Given the description of an element on the screen output the (x, y) to click on. 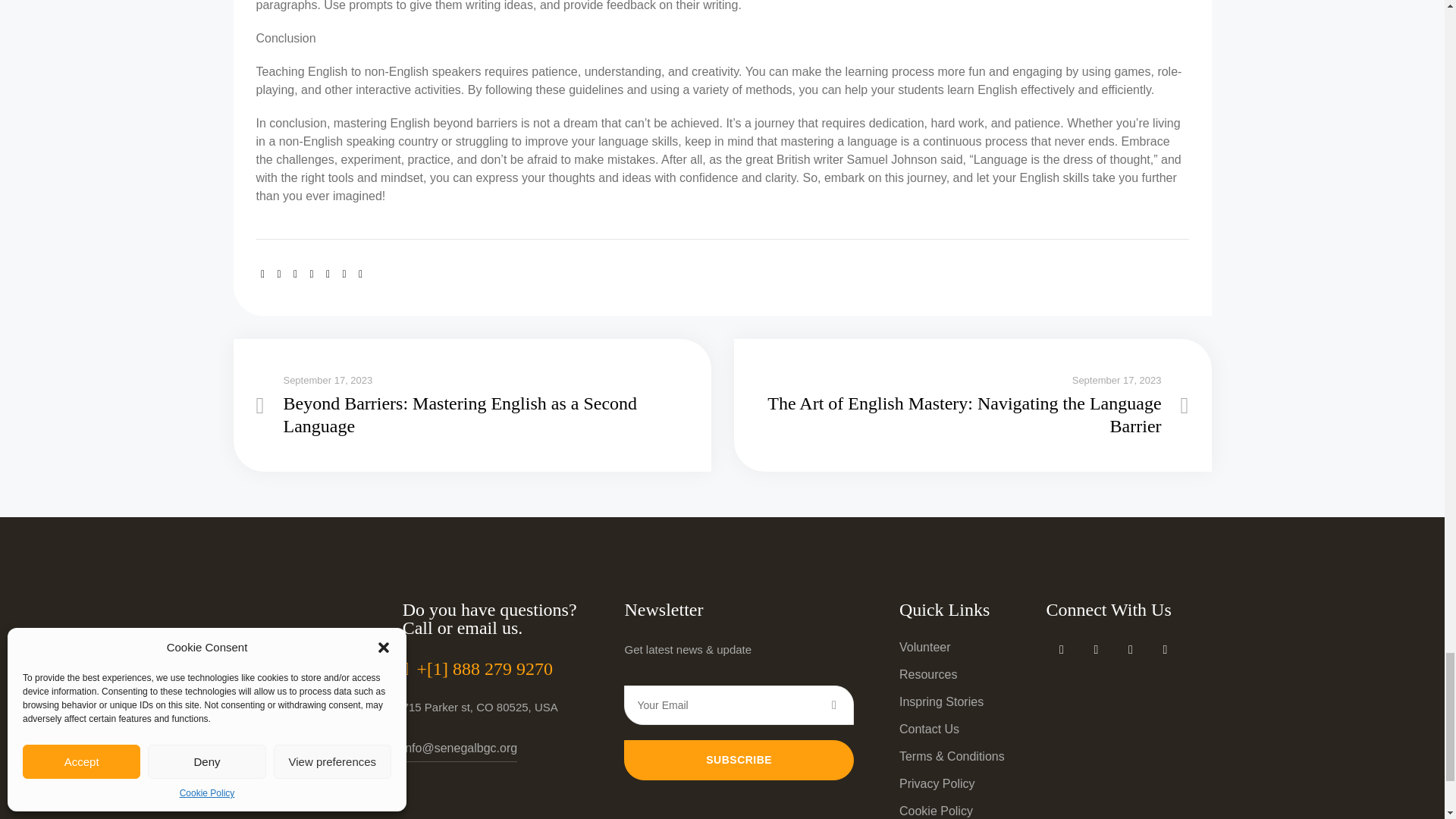
English (257, 772)
